Given the description of an element on the screen output the (x, y) to click on. 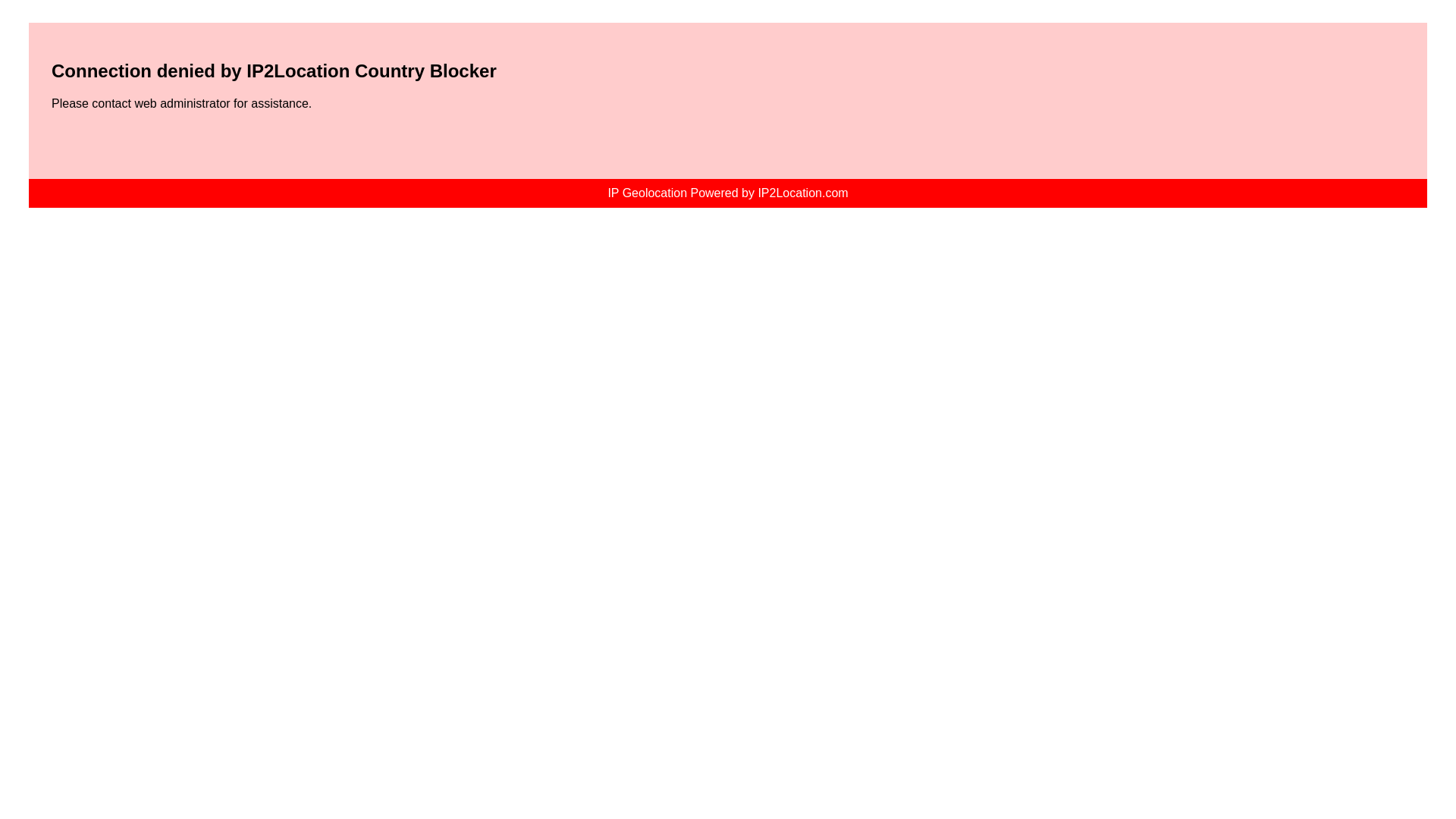
IP Geolocation Powered by IP2Location.com (727, 192)
